Given the description of an element on the screen output the (x, y) to click on. 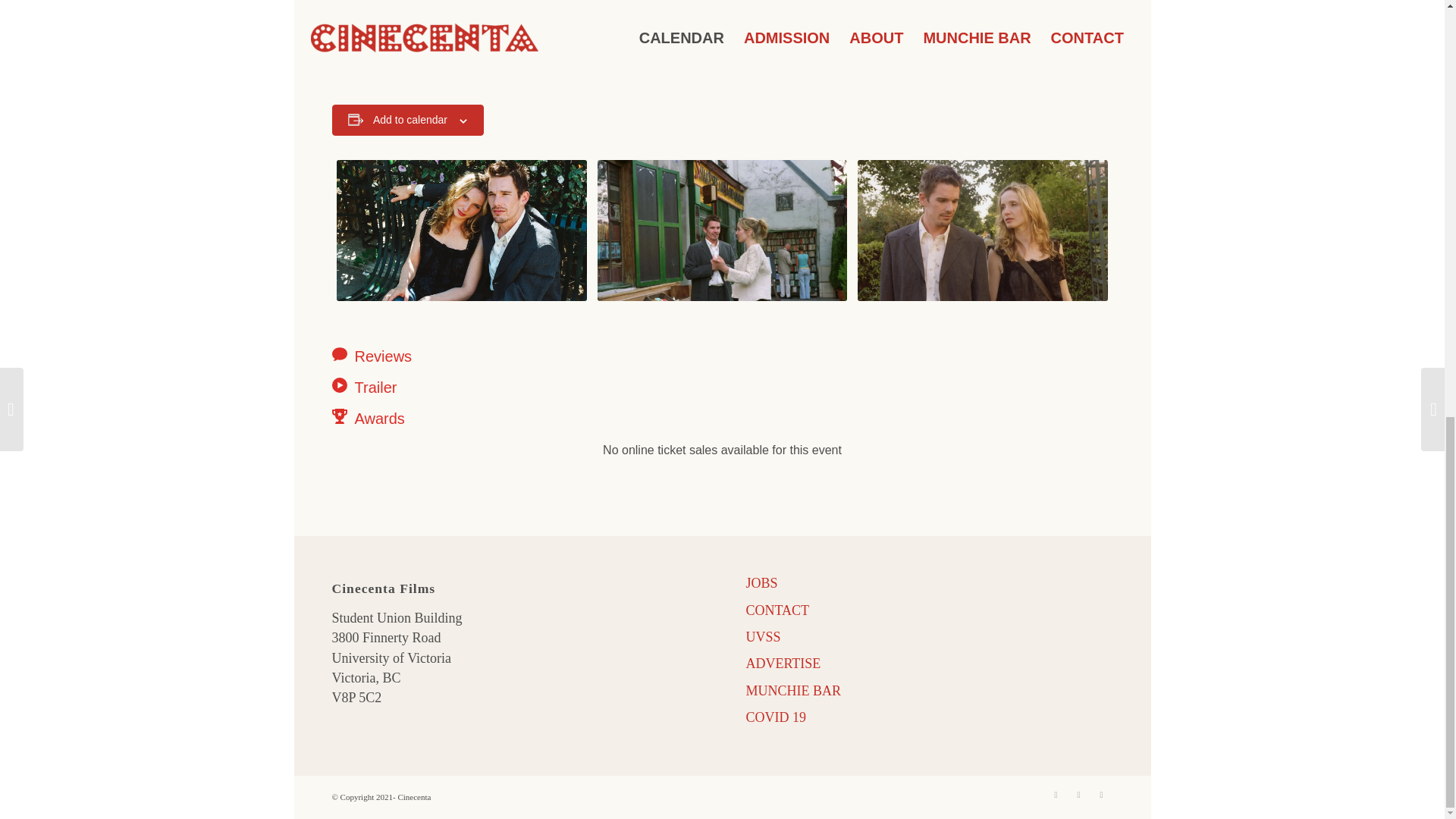
Add to calendar (409, 119)
Trailer (448, 387)
Reviews (448, 356)
Before Sunset, 2004 (461, 229)
Before Sunset, 2004 (721, 229)
Awards (448, 418)
